Given the description of an element on the screen output the (x, y) to click on. 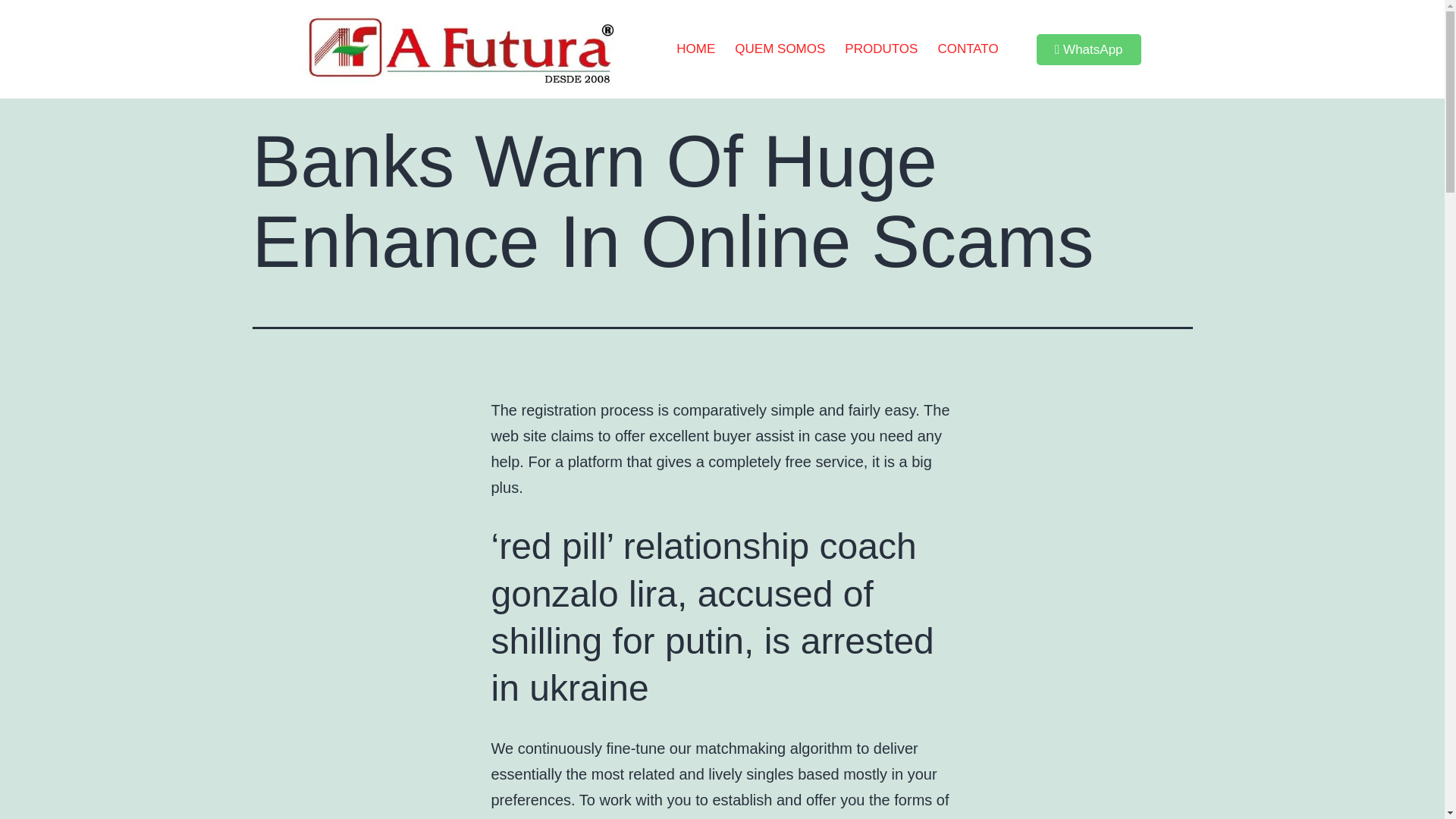
QUEM SOMOS (779, 48)
CONTATO (967, 48)
HOME (695, 48)
PRODUTOS (880, 48)
WhatsApp (1088, 49)
